Given the description of an element on the screen output the (x, y) to click on. 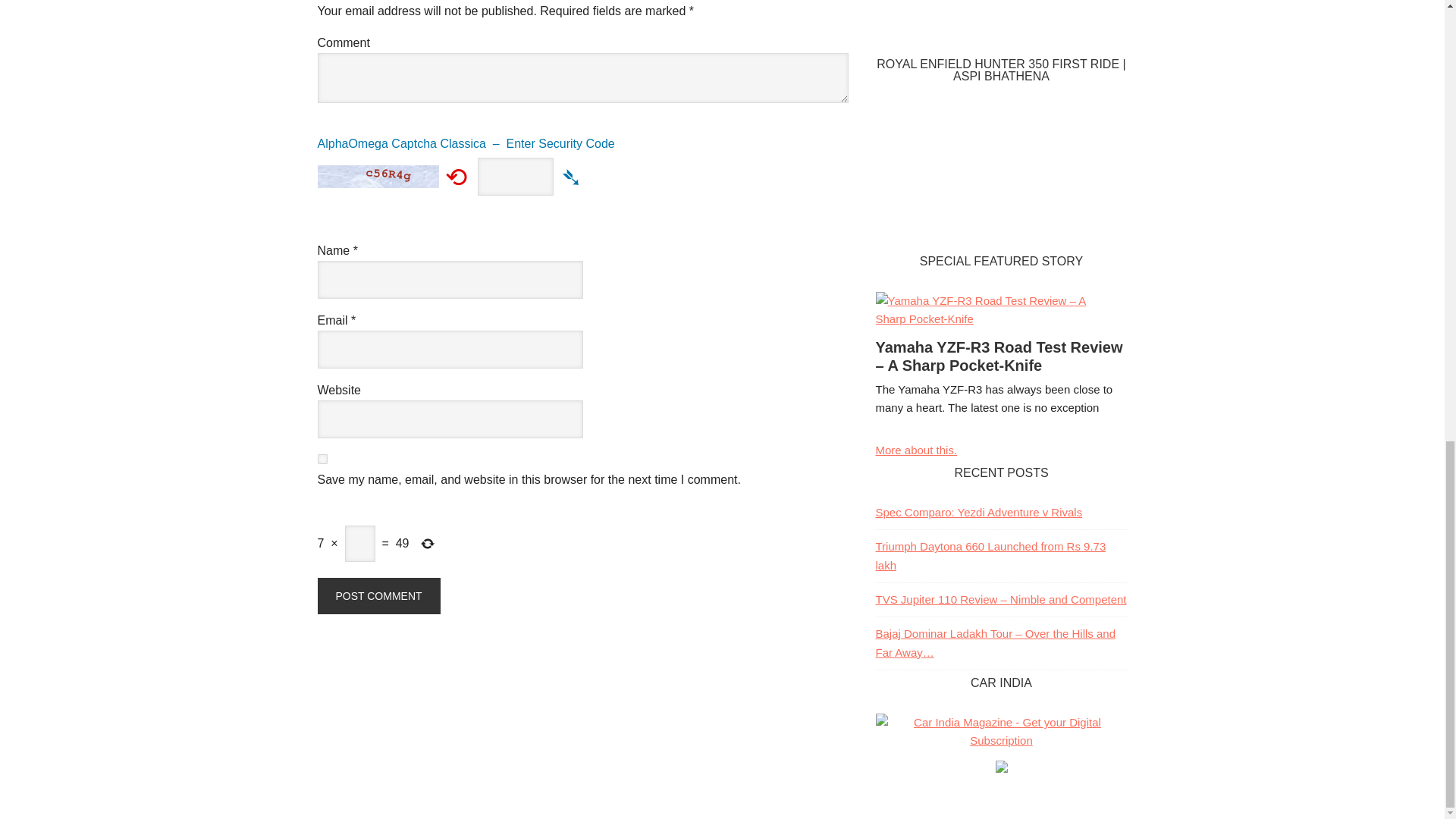
Post Comment (378, 596)
Post Comment (378, 596)
 Checkout the AlphaOmega Captcha Plugin at WordPress.org  (582, 148)
 Reload AlphaOmega Captcha  (456, 175)
yes (321, 459)
 Checkout the AlphaOmega Captcha Plugin at WordPress.org  (571, 175)
